Given the description of an element on the screen output the (x, y) to click on. 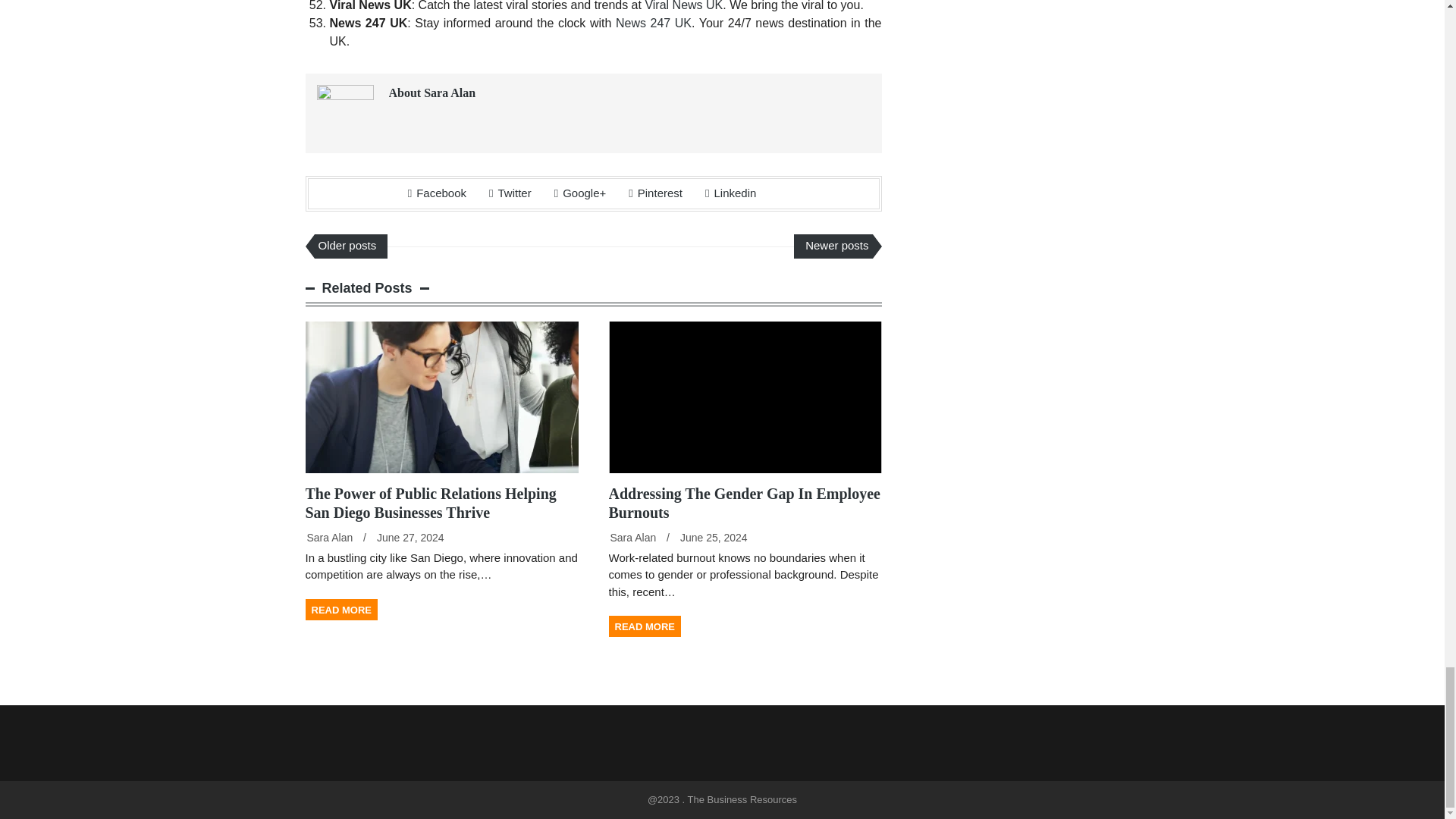
Posts by Sara Alan (633, 537)
Posts by Sara Alan (328, 537)
